Given the description of an element on the screen output the (x, y) to click on. 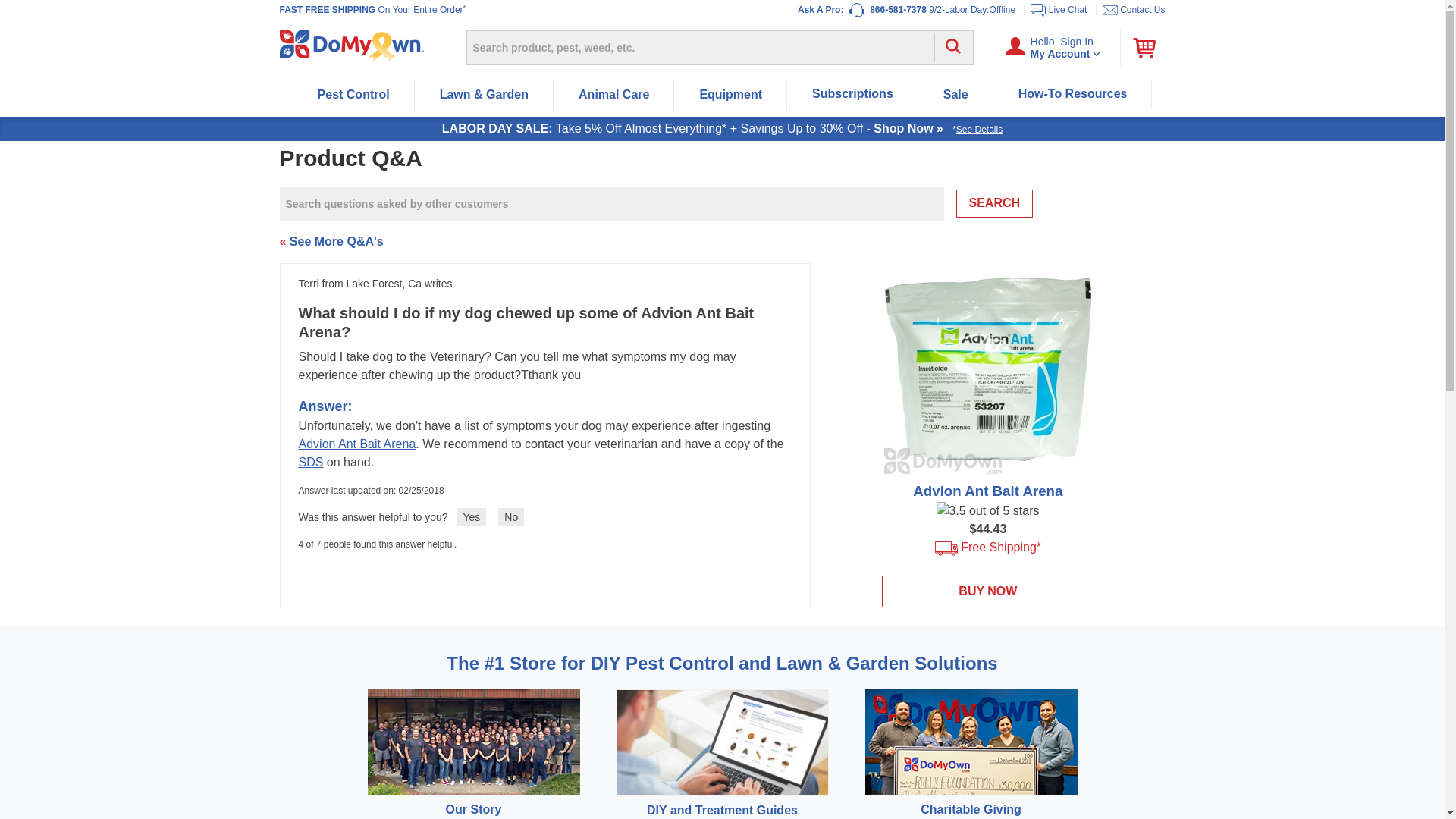
Subscriptions (1052, 47)
Equipment (852, 93)
Animal Care (730, 94)
View Cart (613, 94)
How-To Resources (1148, 47)
FAST FREE SHIPPING On Your Entire Order (1072, 93)
Sale (371, 9)
Contact Us (955, 94)
Live Chat (1141, 9)
